Given the description of an element on the screen output the (x, y) to click on. 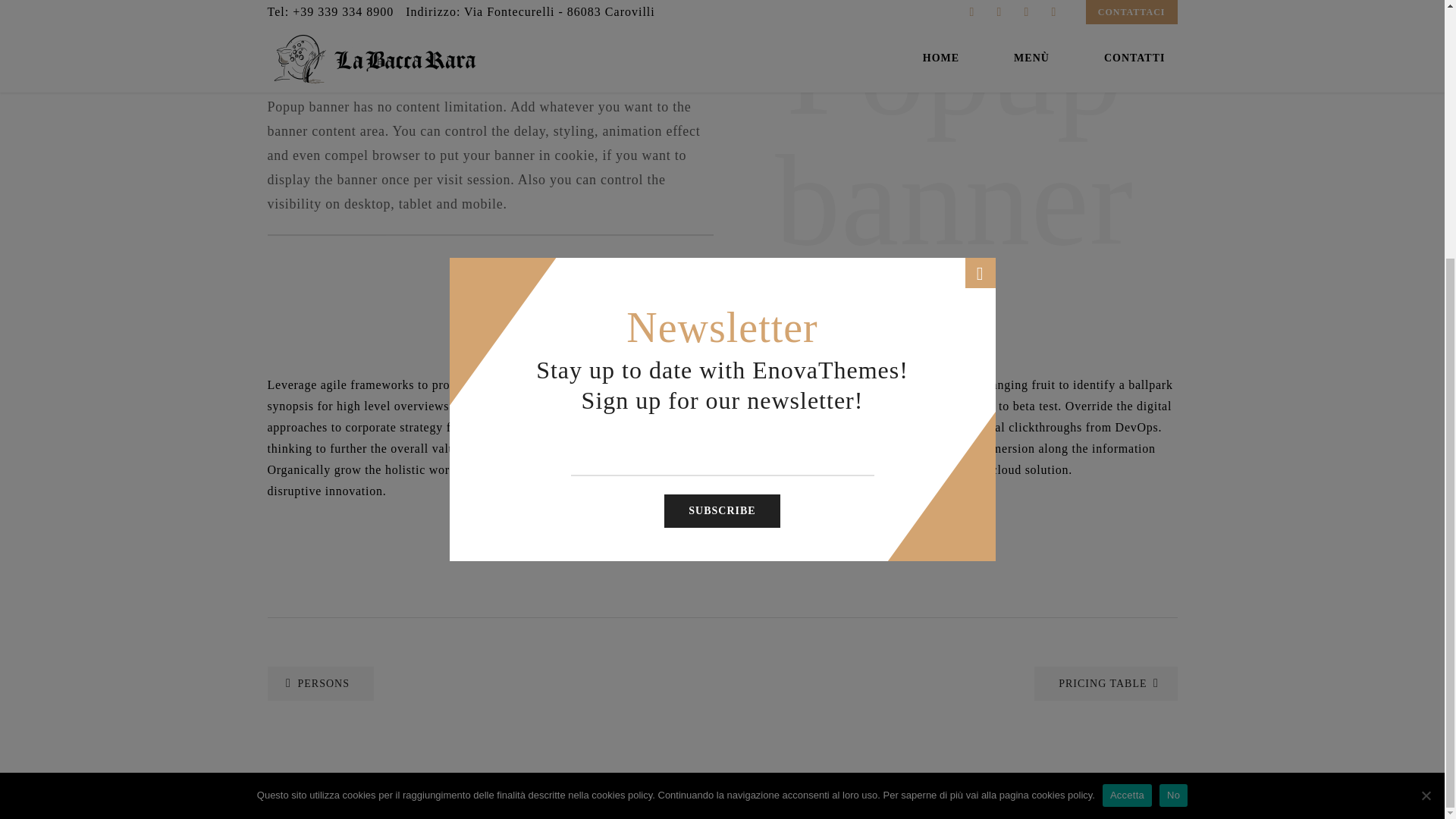
No (1173, 425)
Accetta (1126, 425)
PERSONS (319, 683)
PRICING TABLE (1104, 683)
Mara Iacovone (1133, 418)
SUBSCRIBE (720, 141)
Privacy Policy  (940, 335)
